Given the description of an element on the screen output the (x, y) to click on. 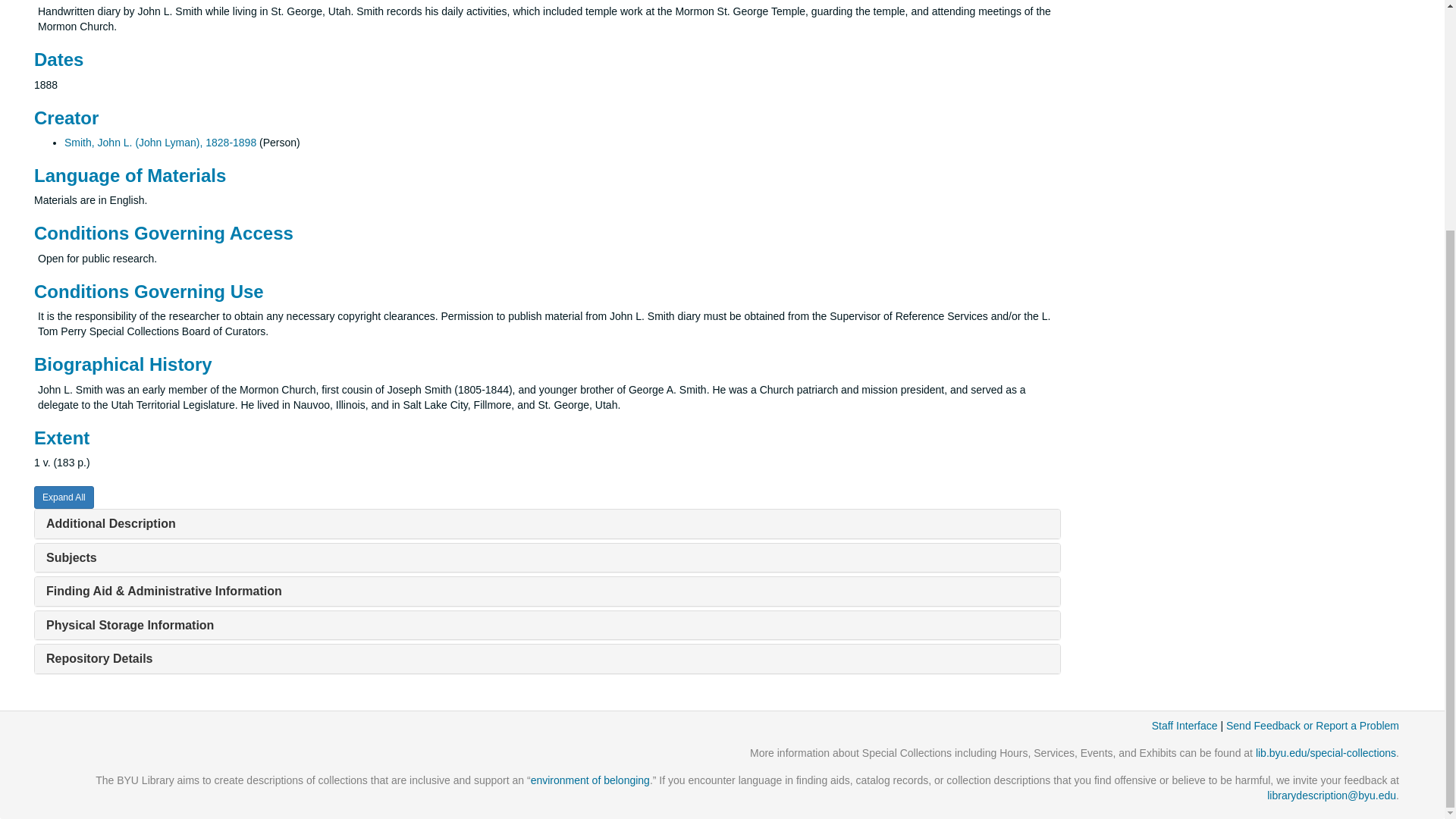
Additional Description (111, 522)
Repository Details (99, 658)
Subjects (71, 557)
Expand All (63, 497)
Physical Storage Information (130, 625)
